Given the description of an element on the screen output the (x, y) to click on. 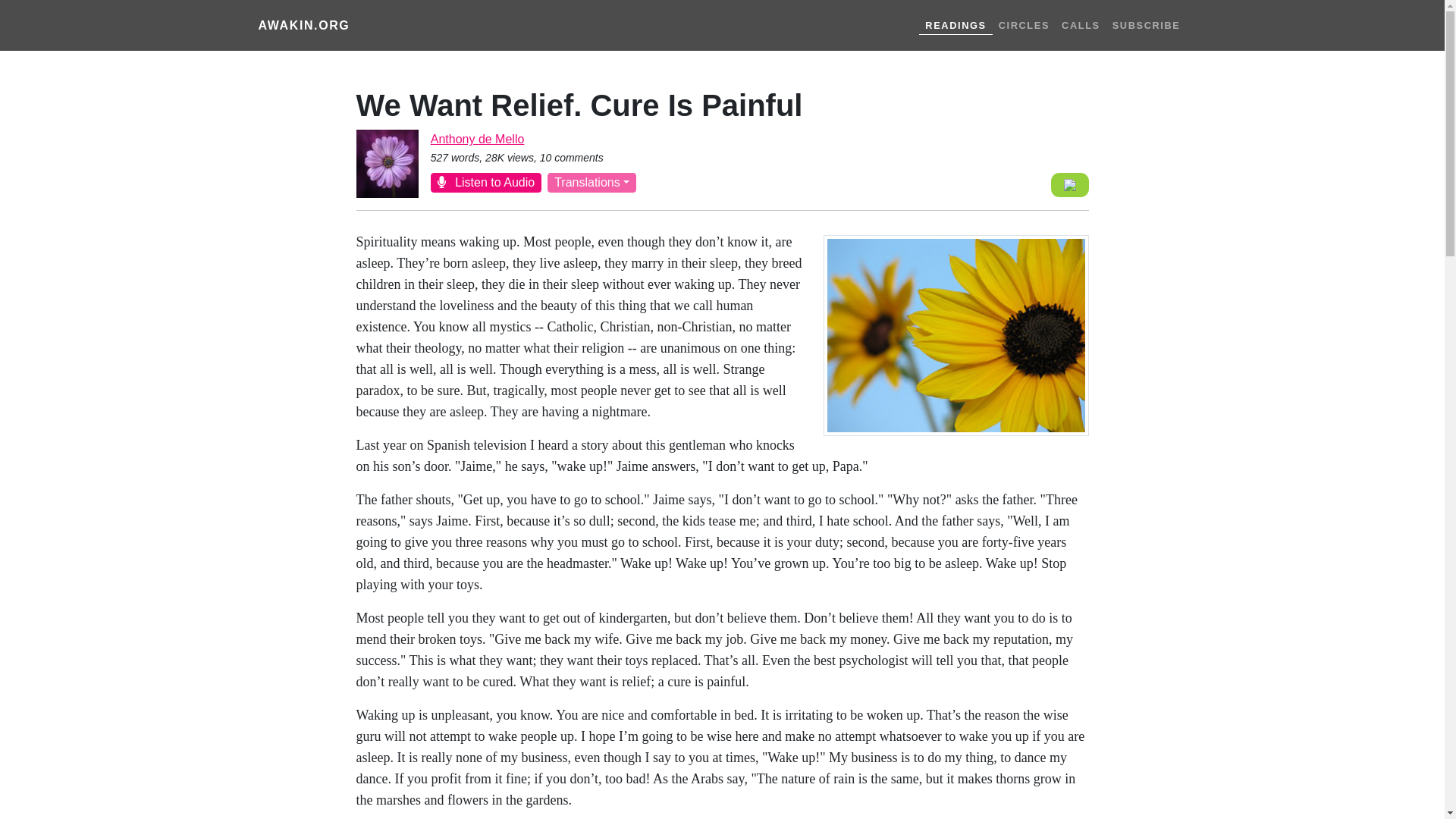
CALLS (1080, 25)
Anthony de Mello (477, 138)
SUBSCRIBE (1146, 25)
READINGS (954, 23)
Listen to Audio (485, 182)
Translations (591, 182)
CIRCLES (1023, 25)
AWAKIN.ORG (303, 25)
